Given the description of an element on the screen output the (x, y) to click on. 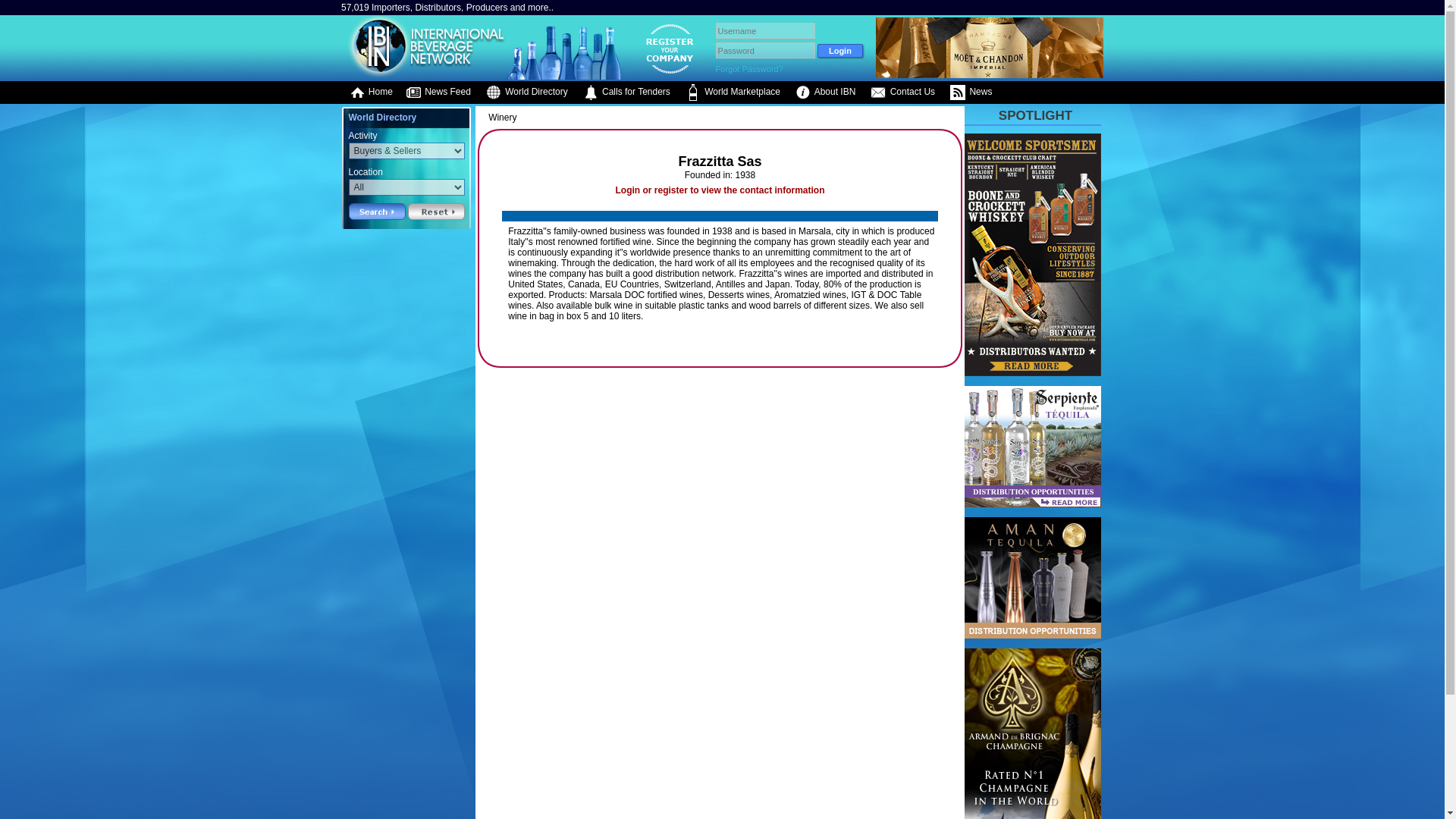
News Feed (438, 92)
Calls for Tenders (626, 92)
Forgot Password? (749, 68)
Contact Us (902, 92)
World Marketplace (732, 92)
About IBN (825, 92)
Home Page Top Header Banner (989, 74)
Home (370, 92)
World Directory (526, 92)
Login (839, 50)
Login or register to view the contact information (719, 190)
International Beverage Network Home (423, 75)
Login (839, 50)
News (970, 92)
